Given the description of an element on the screen output the (x, y) to click on. 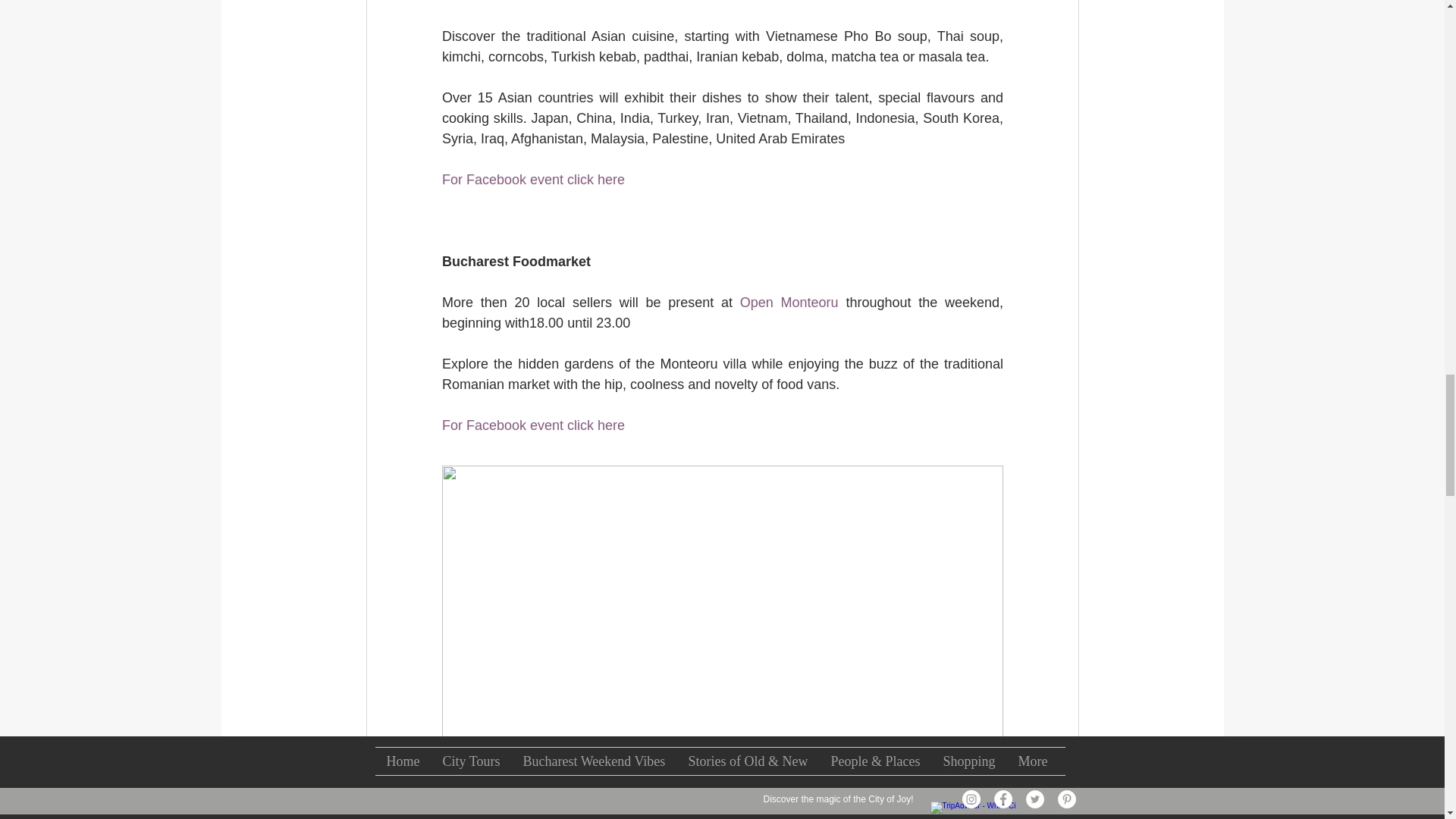
For Facebook event click here (532, 179)
Open Monteoru (788, 302)
For Facebook event click here (532, 425)
